Given the description of an element on the screen output the (x, y) to click on. 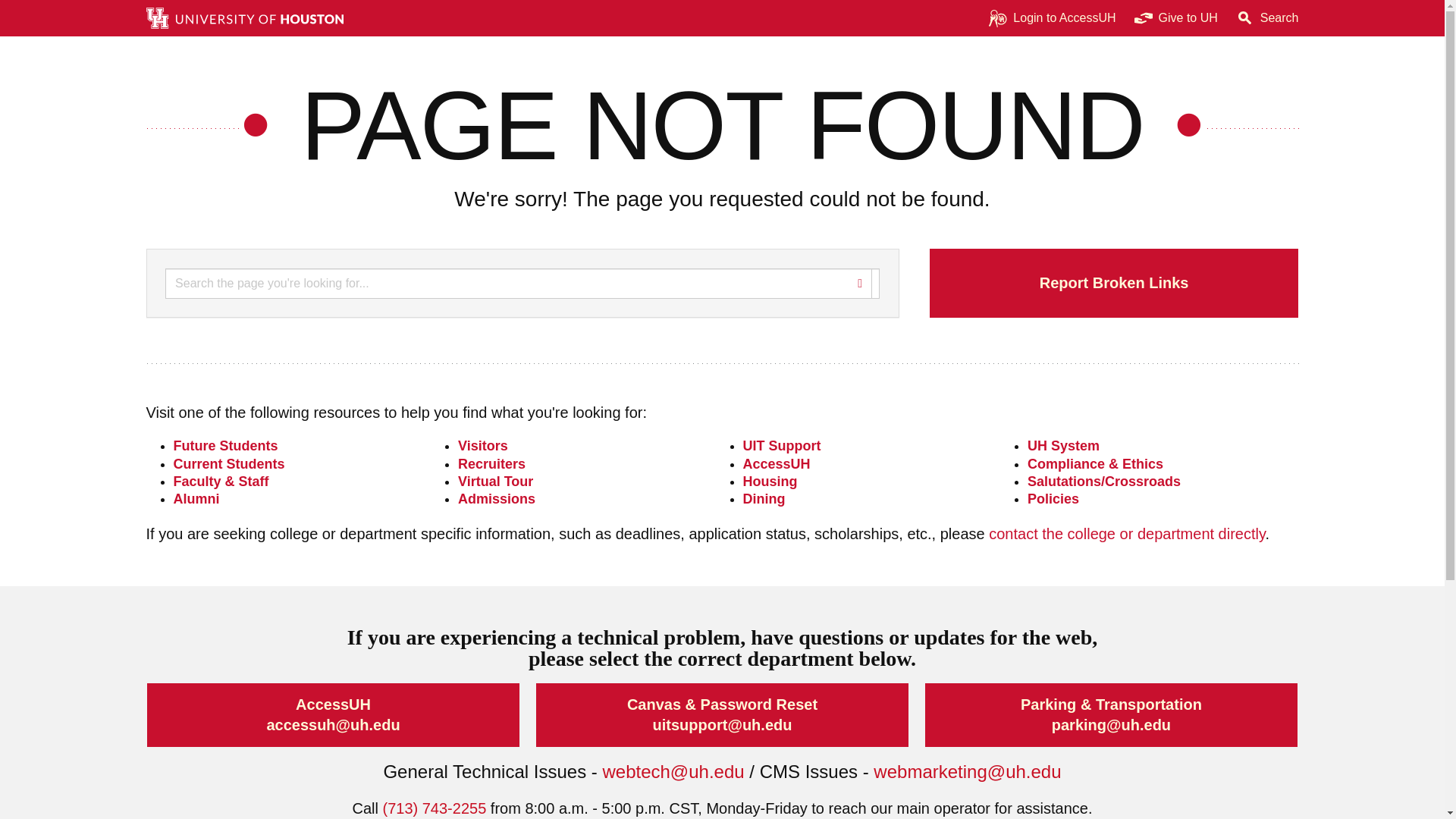
University of Houston (359, 724)
University of Houston (698, 771)
University of Houston (1016, 771)
Current Students (228, 463)
Policies (1052, 498)
Future Students (225, 445)
University of Houston (1036, 445)
Give to UH (1176, 18)
University of Houston (1130, 724)
Admissions (496, 498)
Report Broken Links (1114, 282)
Alumni (196, 498)
UH System (1063, 445)
University of Houston (751, 724)
Visitors (483, 445)
